Given the description of an element on the screen output the (x, y) to click on. 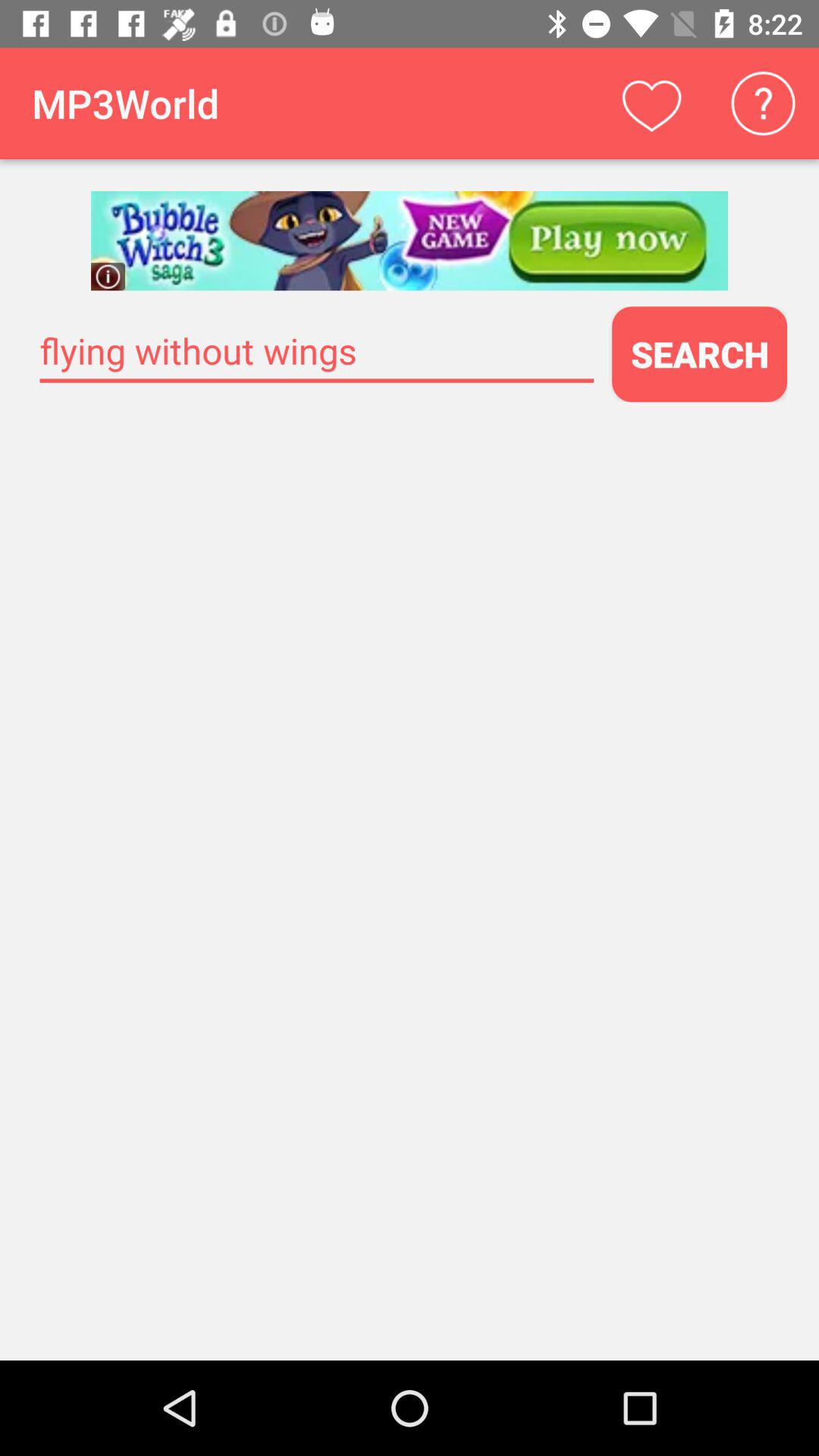
advertisement link (409, 240)
